Given the description of an element on the screen output the (x, y) to click on. 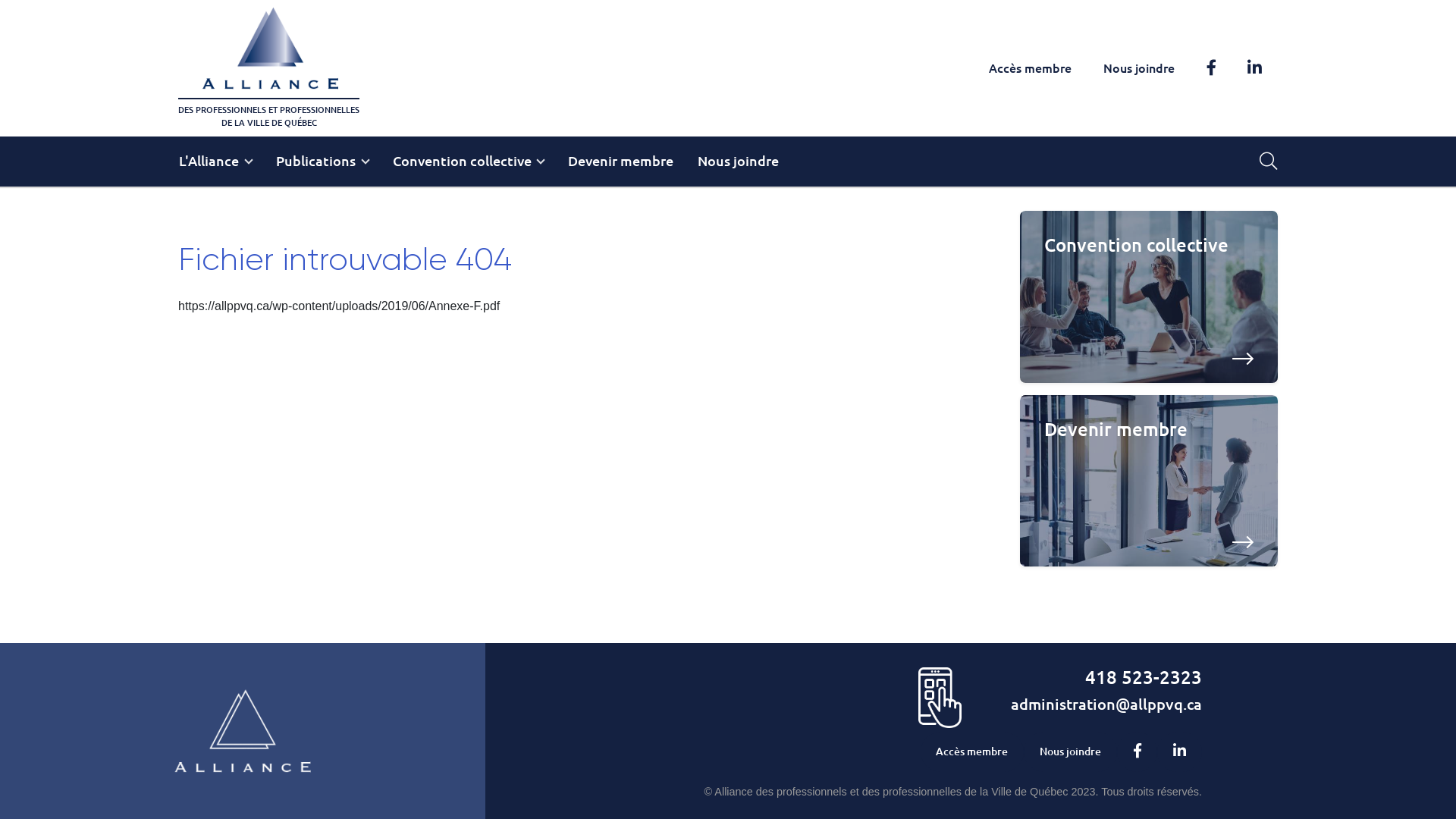
LinkedIn Element type: text (1254, 68)
Devenir membre Element type: text (620, 161)
administration@allppvq.ca Element type: text (1105, 703)
Convention collective Element type: text (1148, 296)
Devenir membre Element type: text (1148, 480)
Nous joindre Element type: text (737, 161)
Nous joindre Element type: text (1070, 751)
L'Alliance Element type: text (214, 161)
Nous joindre Element type: text (1138, 68)
Facebook Element type: text (1211, 68)
Facebook Element type: text (1137, 751)
Publications Element type: text (321, 161)
418 523-2323 Element type: text (1143, 676)
LinkedIn Element type: text (1179, 751)
Convention collective Element type: text (468, 161)
Rechercher Element type: text (1268, 161)
